Given the description of an element on the screen output the (x, y) to click on. 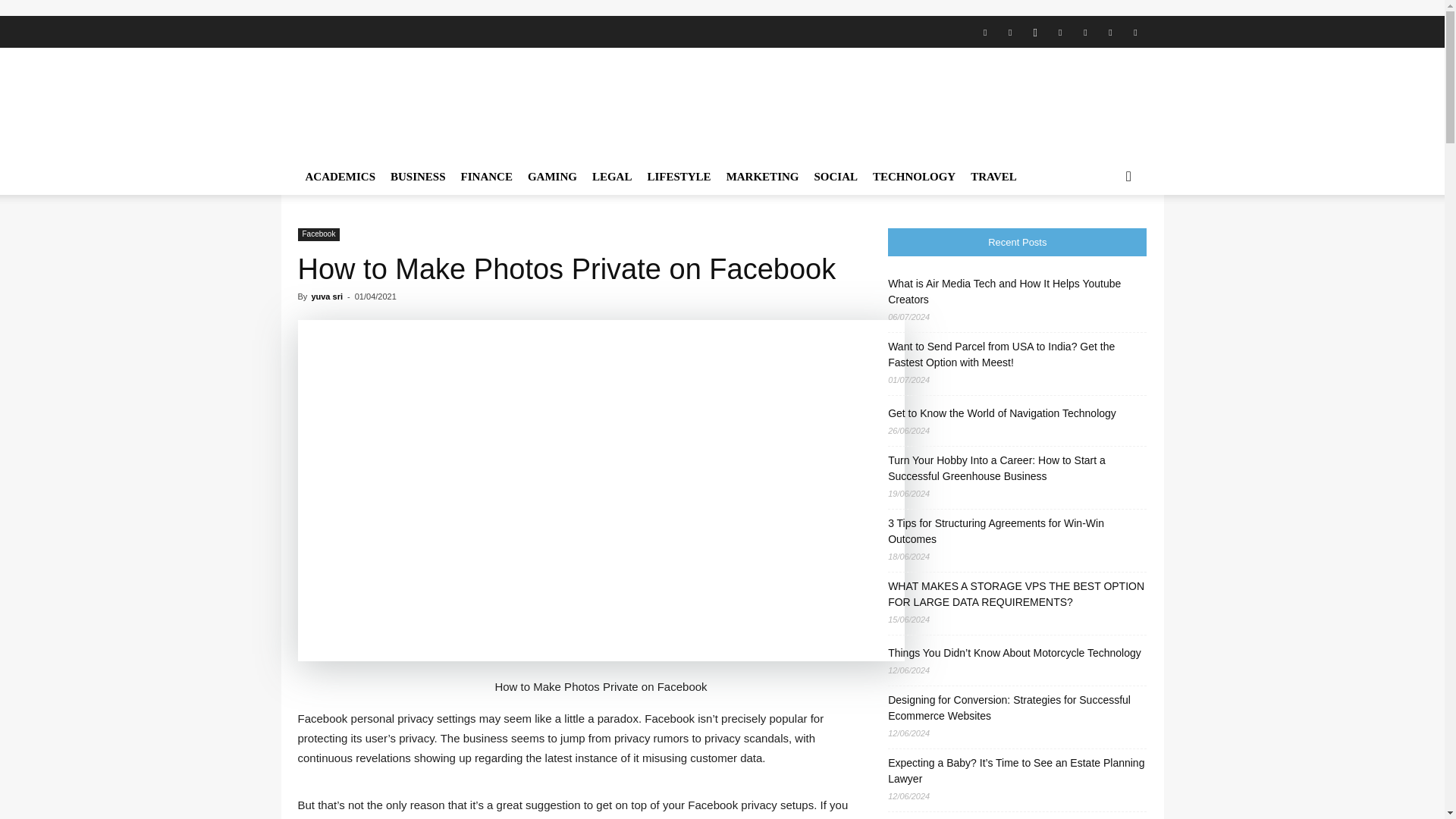
HowToCrazy.Com (426, 102)
